Given the description of an element on the screen output the (x, y) to click on. 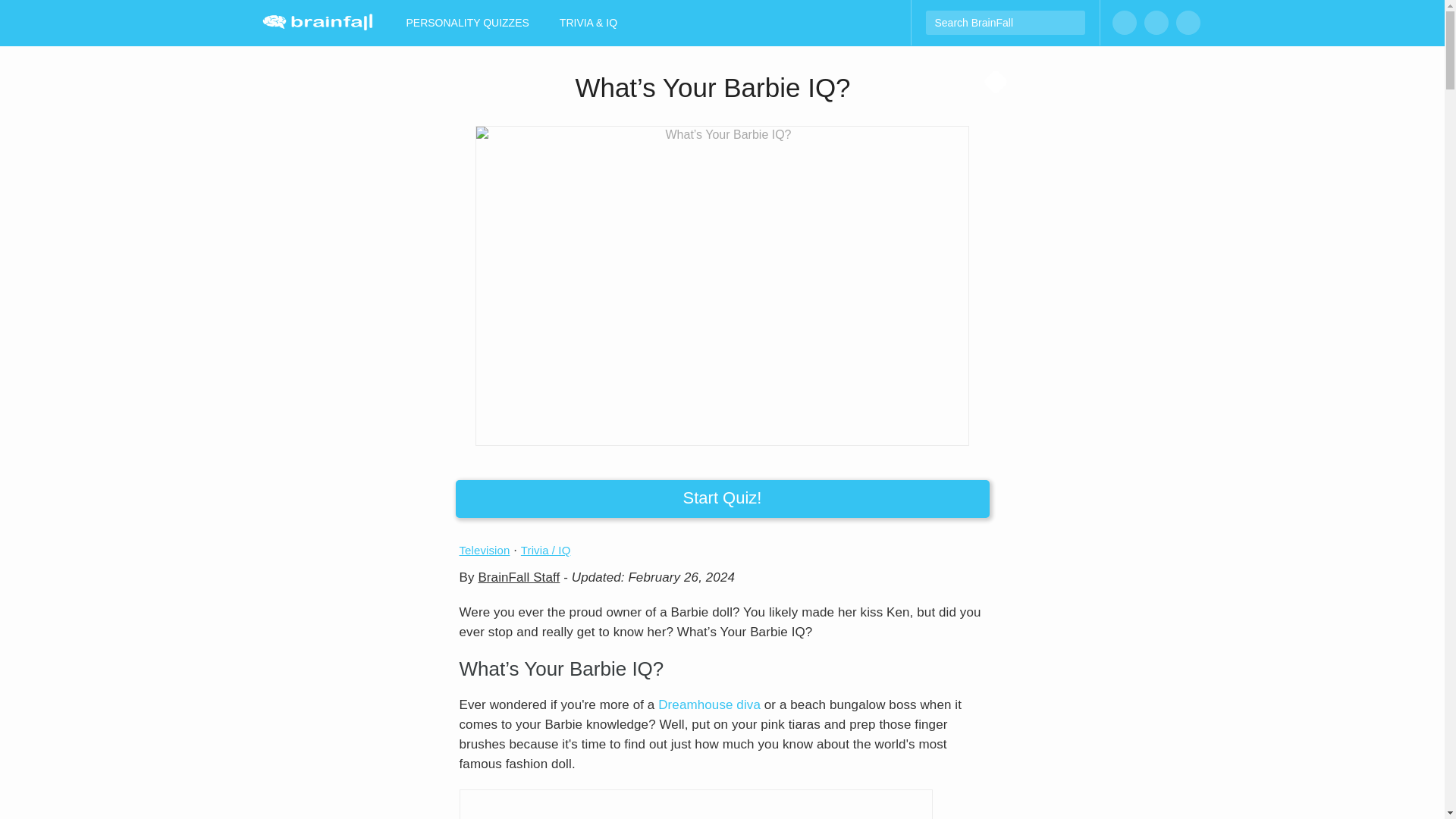
Start Quiz! (721, 498)
Follow us on Instagram! (1154, 22)
Like us on Facebook! (1123, 22)
Follow us on Twitter! (1186, 22)
